Given the description of an element on the screen output the (x, y) to click on. 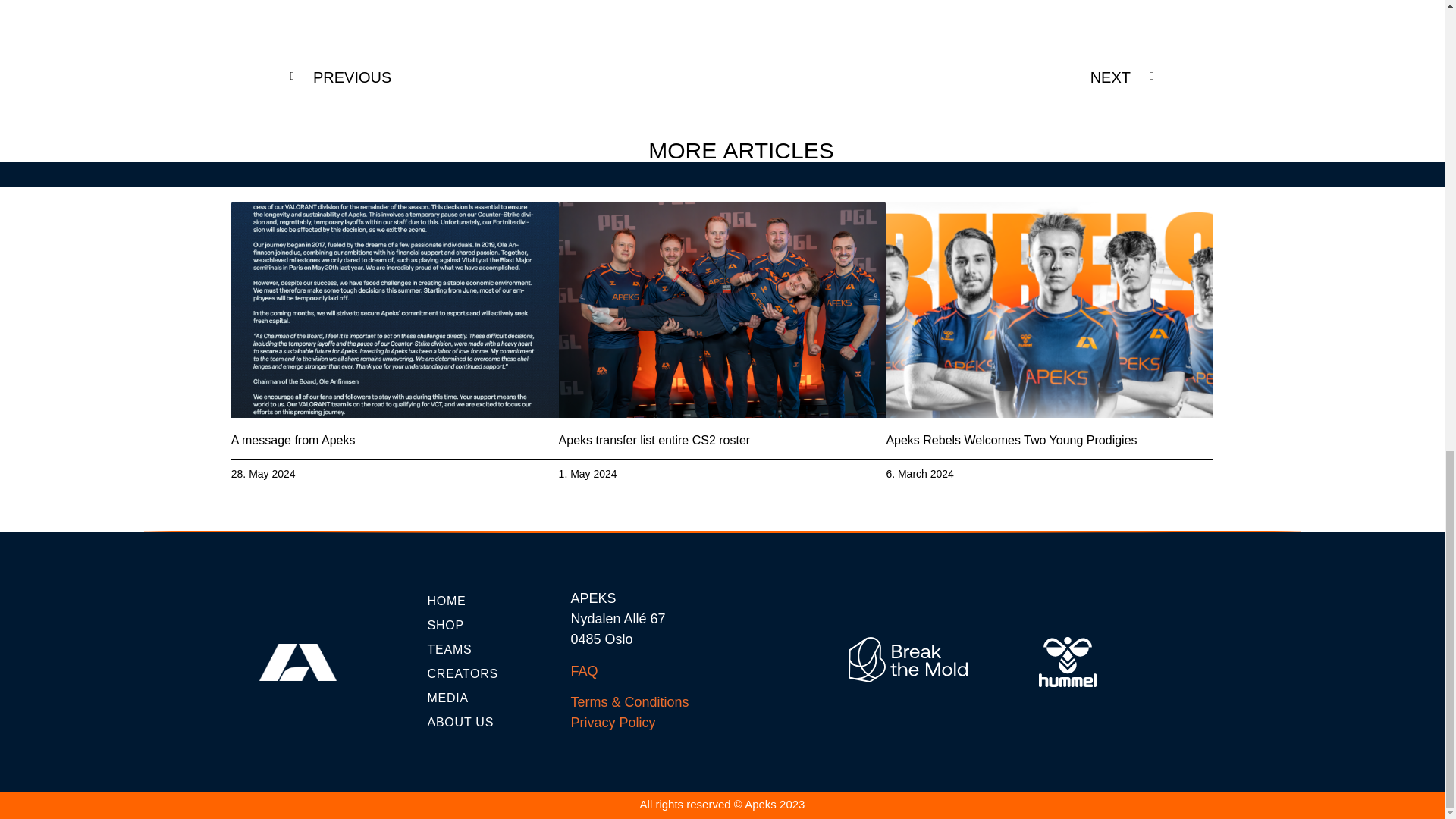
TEAMS (492, 649)
Apeks transfer list entire CS2 roster (655, 440)
HOME (492, 600)
MEDIA (492, 698)
FAQ (583, 670)
A message from Apeks (293, 440)
ABOUT US (492, 722)
CREATORS (492, 673)
PREVIOUS (505, 77)
SHOP (492, 625)
NEXT (938, 77)
Apeks Rebels Welcomes Two Young Prodigies (1011, 440)
